Given the description of an element on the screen output the (x, y) to click on. 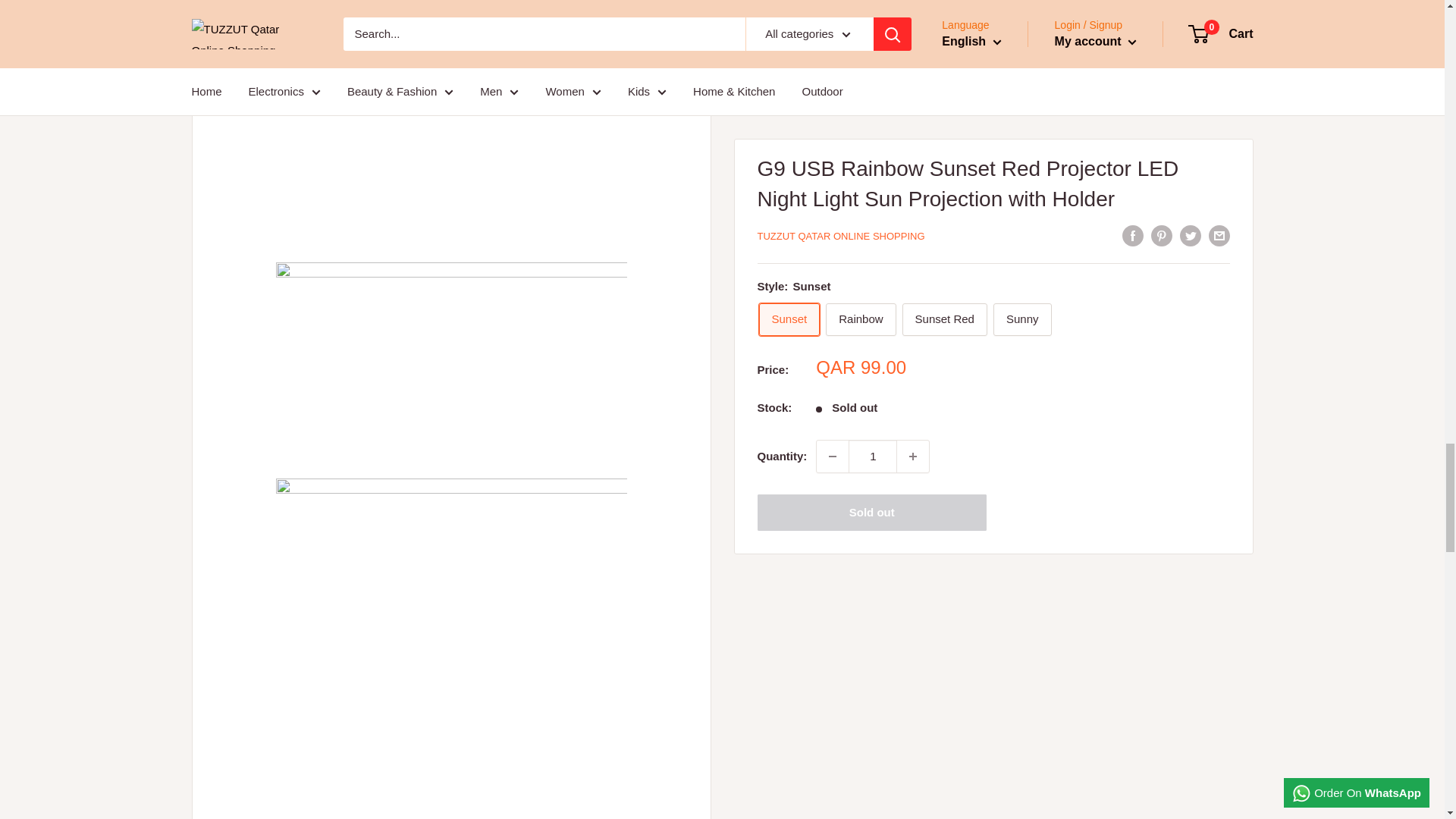
G9 1 (451, 114)
G9 3 (451, 648)
G9 2 (451, 353)
